Given the description of an element on the screen output the (x, y) to click on. 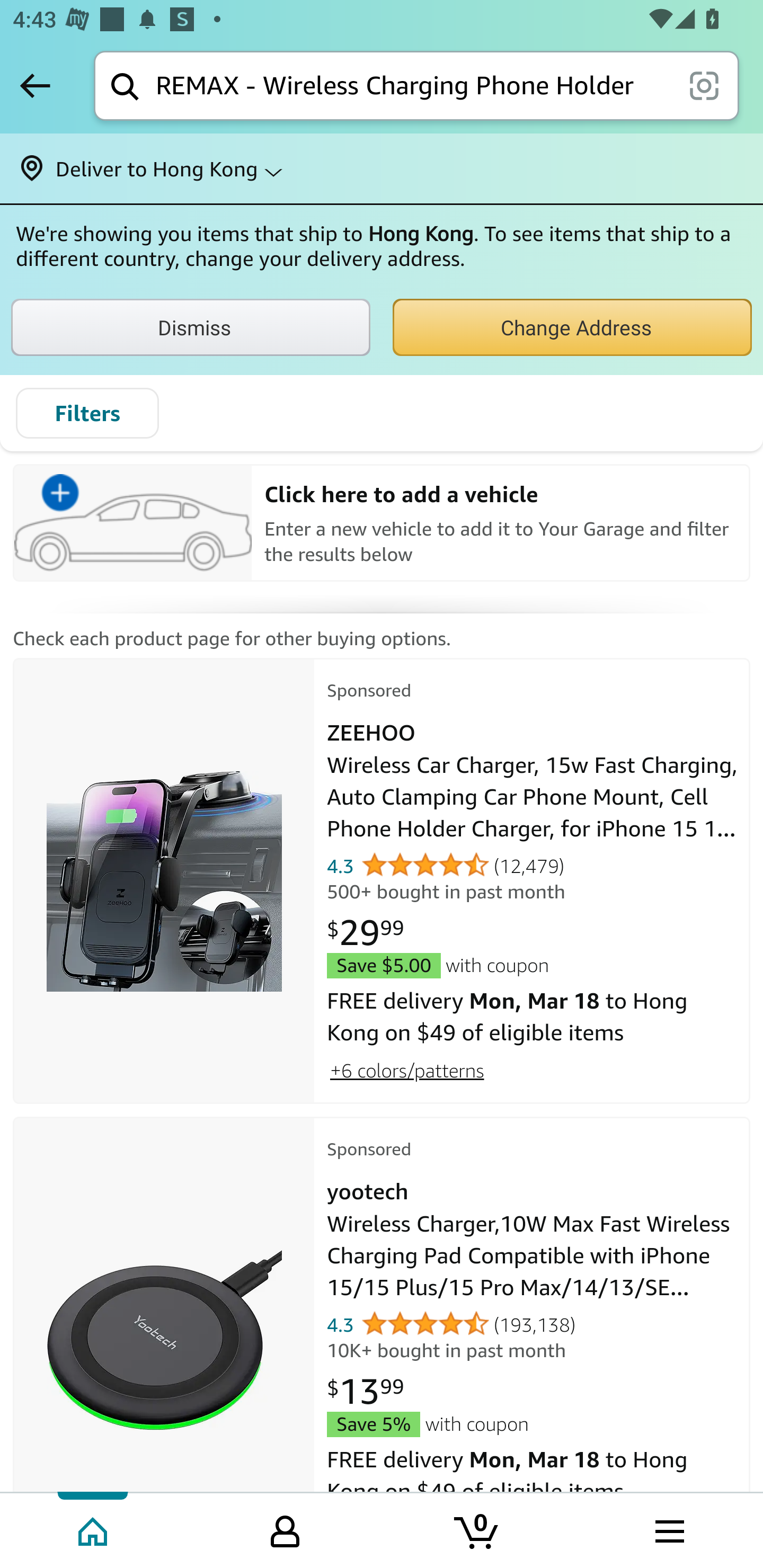
Back (35, 85)
scan it (704, 85)
Deliver to Hong Kong ⌵ (381, 168)
Dismiss (190, 327)
Change Address (571, 327)
Filters (87, 413)
+6 colors/patterns (406, 1069)
Home Tab 1 of 4 (94, 1529)
Your Amazon.com Tab 2 of 4 (285, 1529)
Cart 0 item Tab 3 of 4 0 (477, 1529)
Browse menu Tab 4 of 4 (668, 1529)
